Given the description of an element on the screen output the (x, y) to click on. 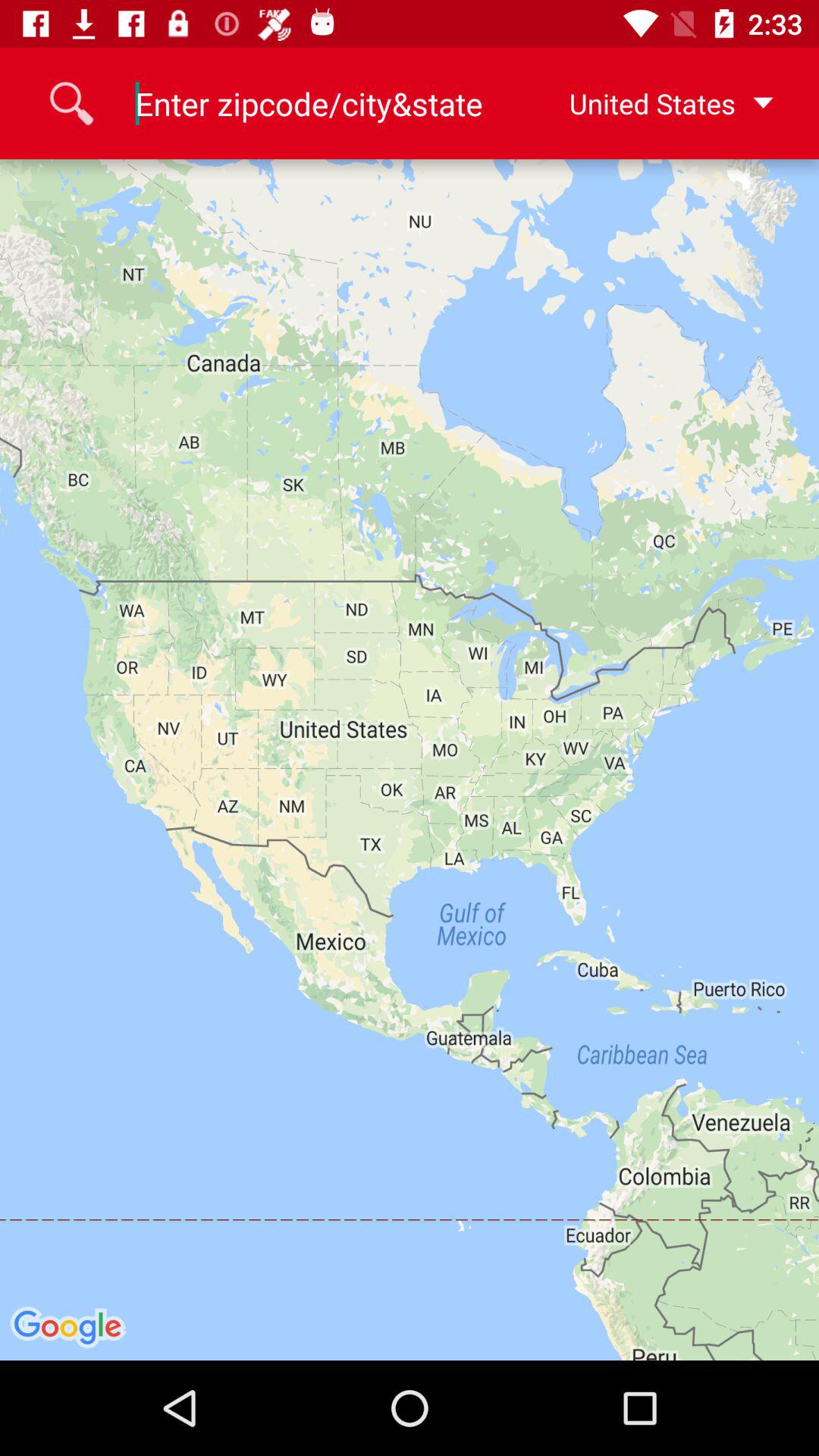
launch icon to the left of the united states (309, 103)
